Given the description of an element on the screen output the (x, y) to click on. 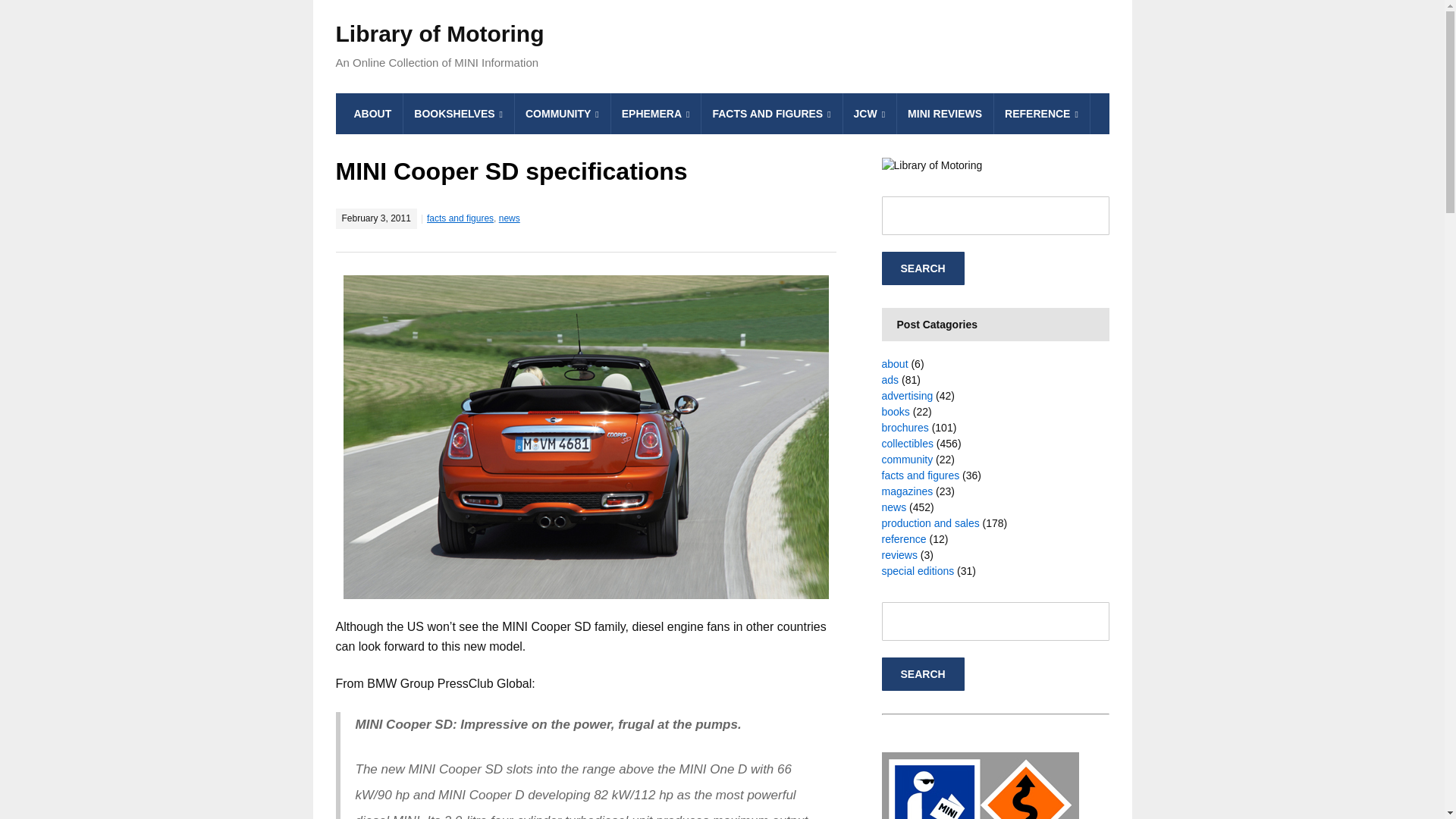
Library of Motoring (438, 33)
Search (921, 674)
Search (921, 268)
